Given the description of an element on the screen output the (x, y) to click on. 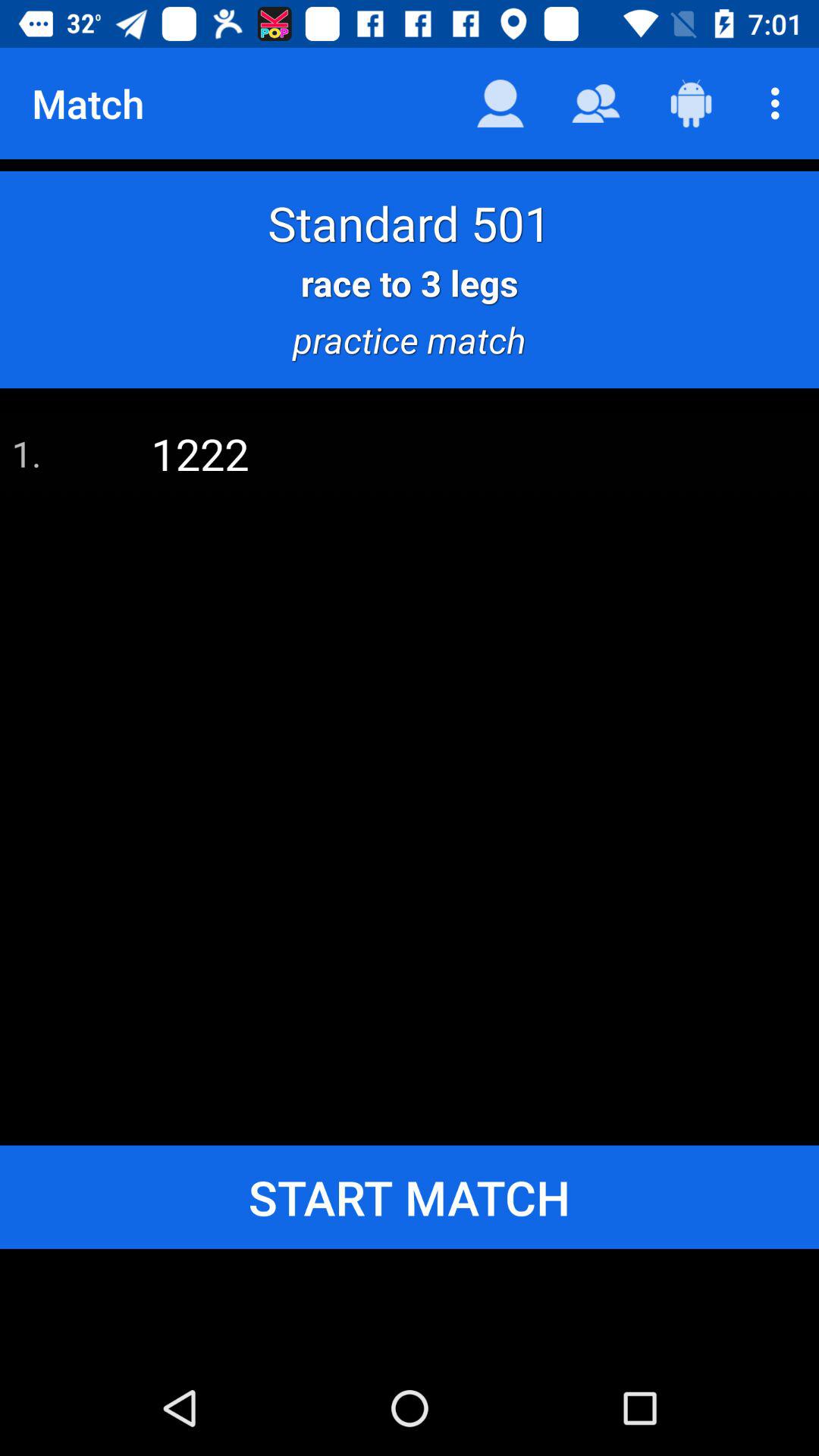
turn off start match button (409, 1196)
